Given the description of an element on the screen output the (x, y) to click on. 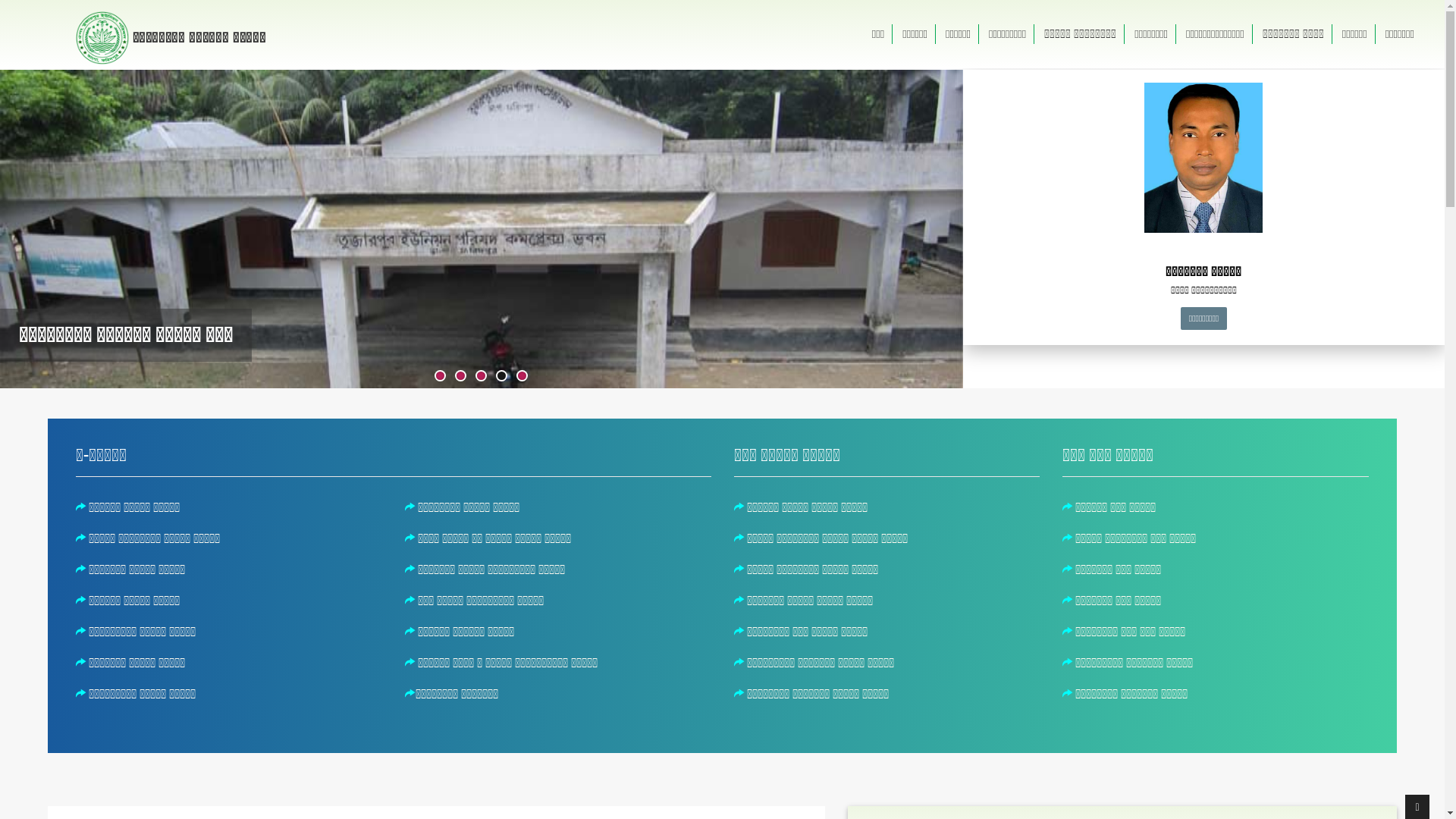
4 Element type: text (501, 375)
2 Element type: text (460, 375)
5 Element type: text (521, 375)
1 Element type: text (440, 375)
3 Element type: text (480, 375)
